Given the description of an element on the screen output the (x, y) to click on. 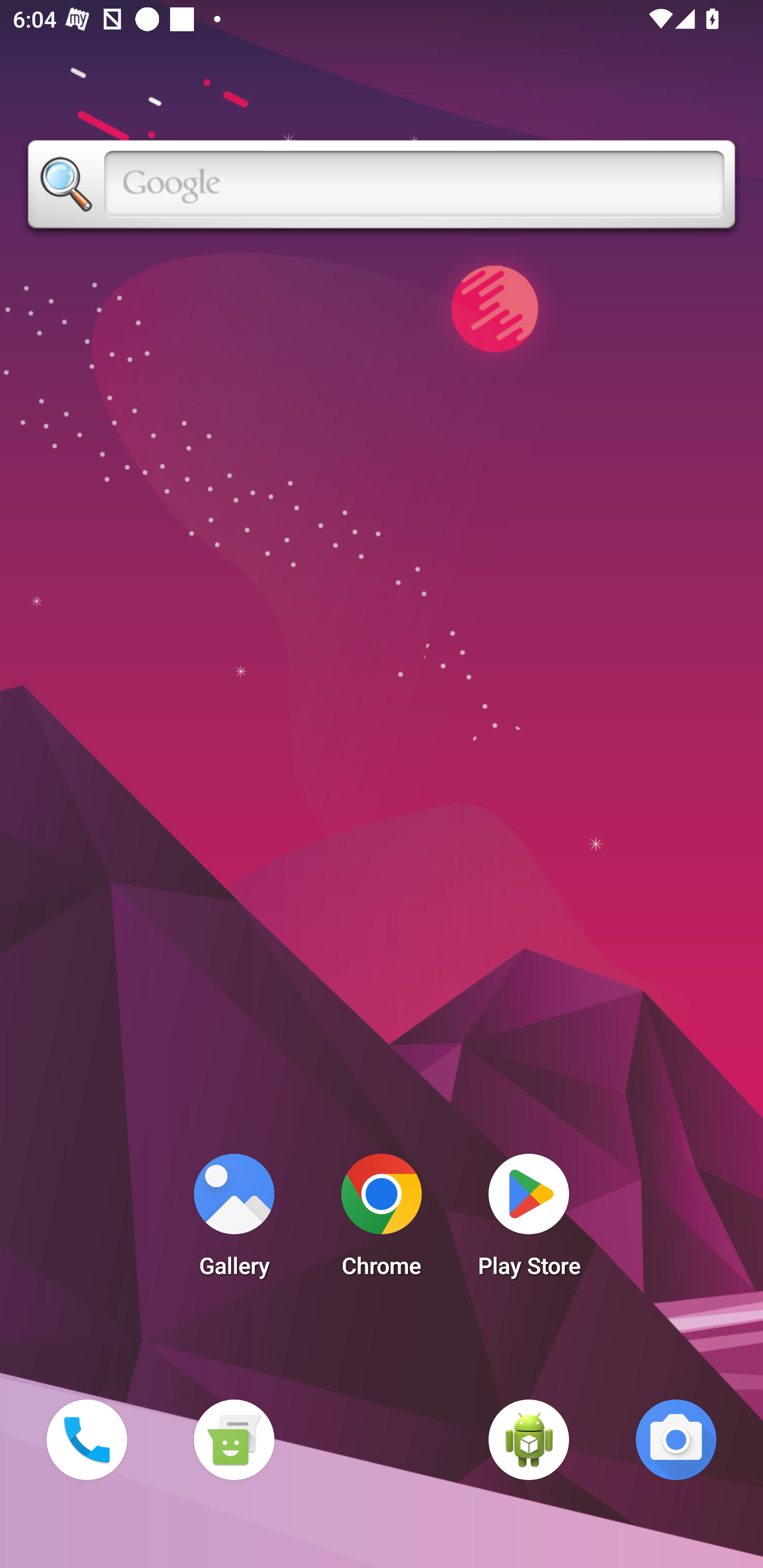
Gallery (233, 1220)
Chrome (381, 1220)
Play Store (528, 1220)
Phone (86, 1439)
Messaging (233, 1439)
WebView Browser Tester (528, 1439)
Camera (676, 1439)
